Given the description of an element on the screen output the (x, y) to click on. 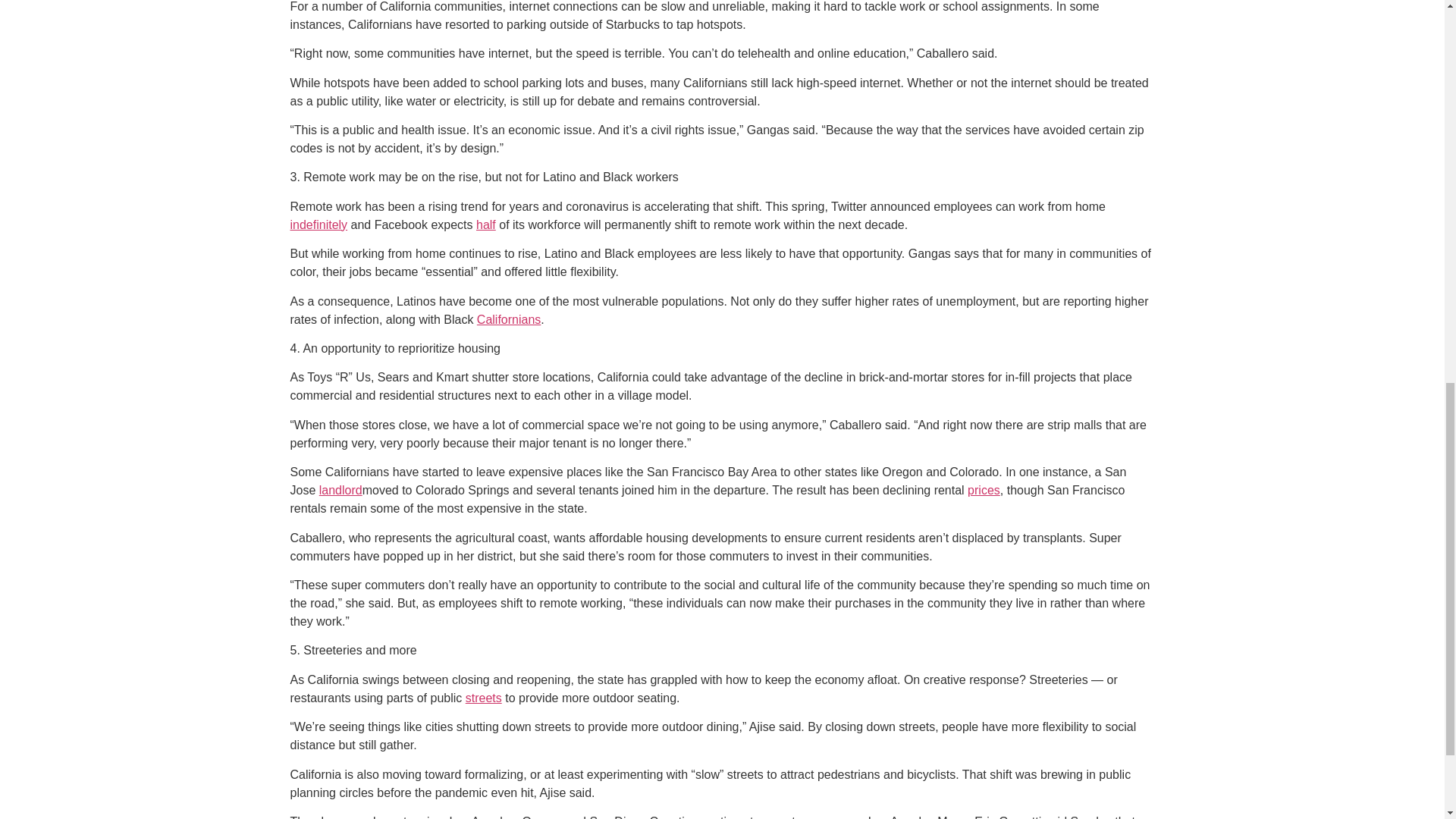
indefinitely (318, 224)
streets (483, 697)
prices (984, 490)
Californians (508, 318)
half (486, 224)
landlord (340, 490)
cases (845, 816)
